Given the description of an element on the screen output the (x, y) to click on. 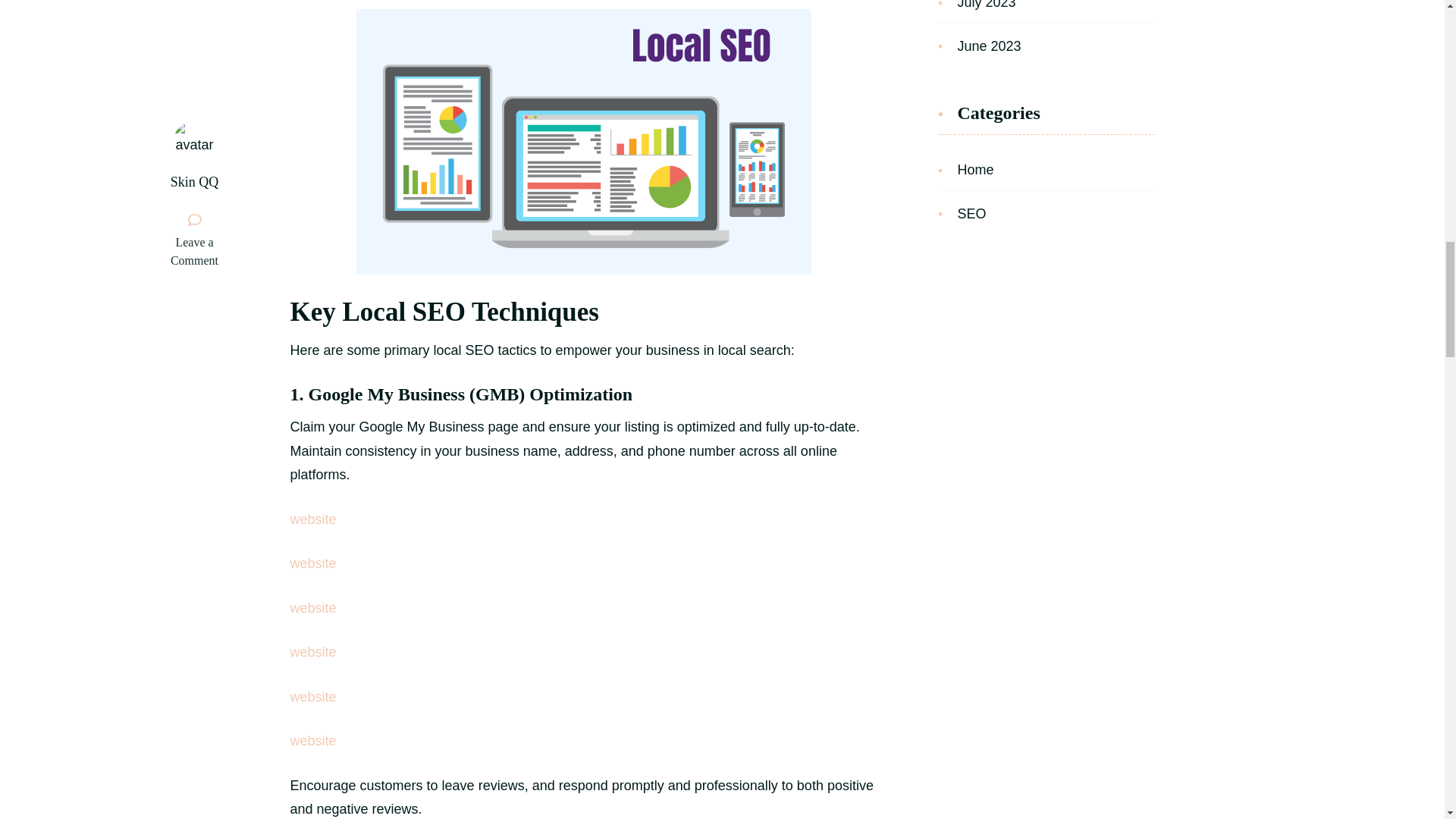
website (312, 740)
website (312, 607)
website (312, 519)
website (312, 696)
website (312, 563)
website (312, 652)
